Given the description of an element on the screen output the (x, y) to click on. 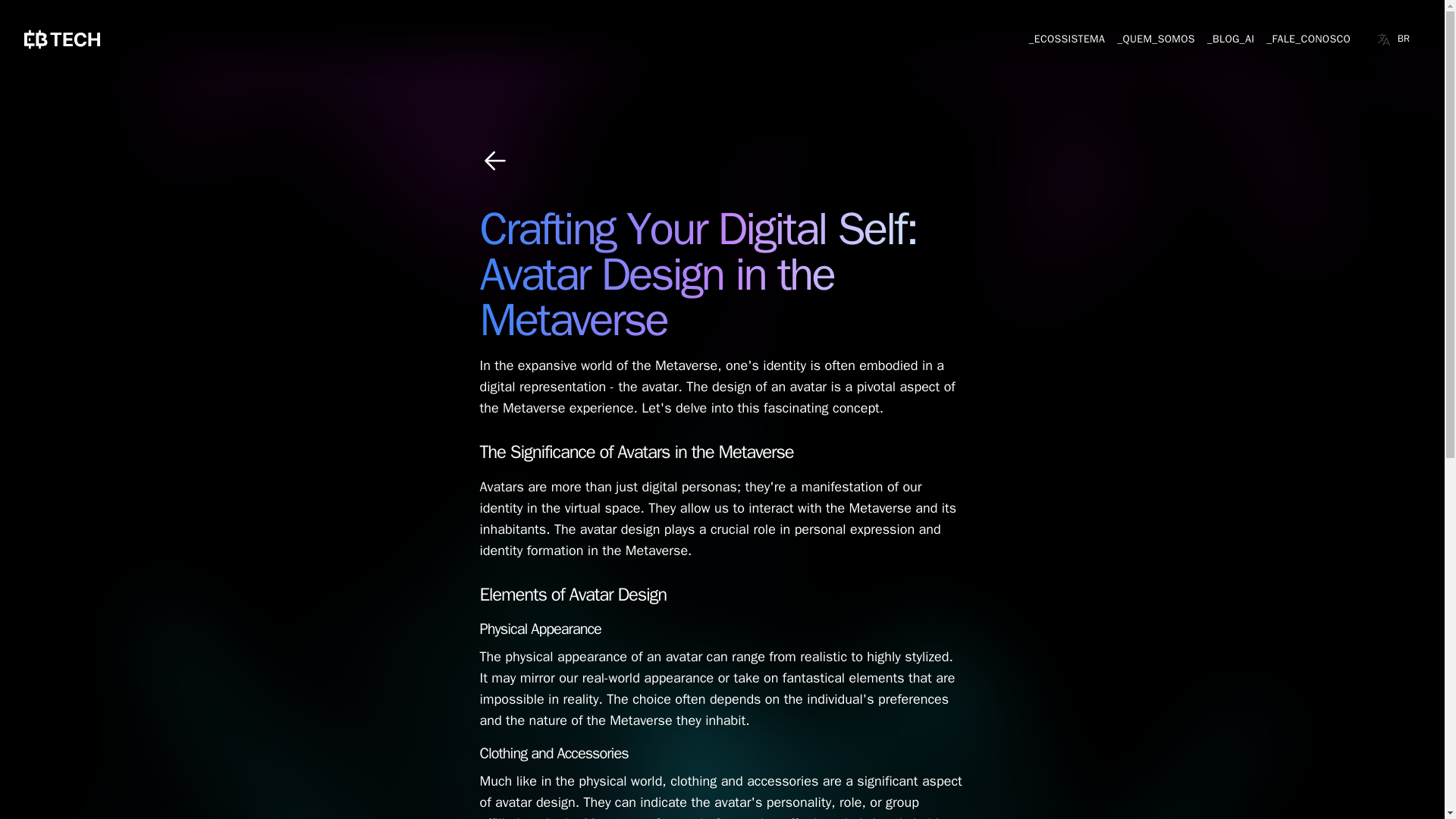
Physical Appearance (539, 628)
Clothing and Accessories (553, 752)
The Significance of Avatars in the Metaverse (636, 451)
Elements of Avatar Design (572, 594)
